Given the description of an element on the screen output the (x, y) to click on. 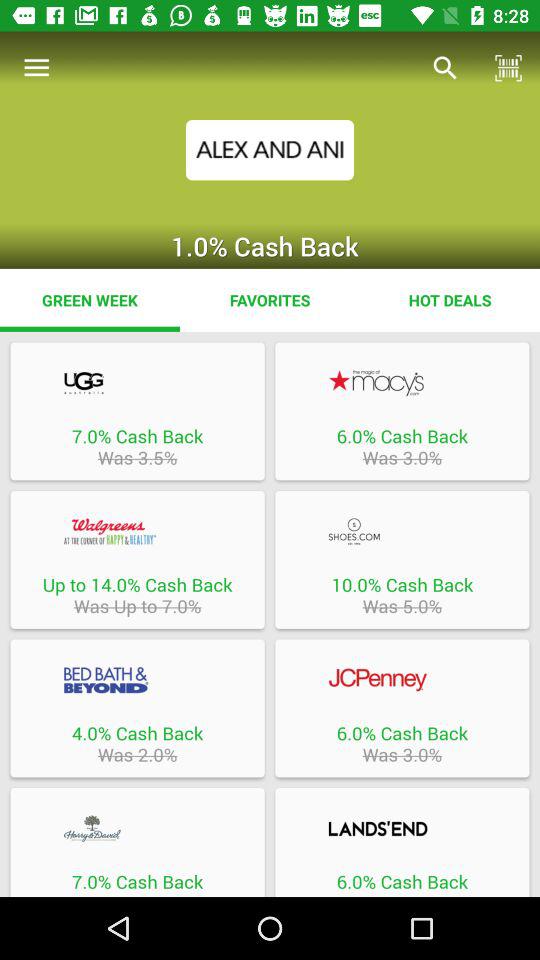
launch favorites (270, 299)
